Given the description of an element on the screen output the (x, y) to click on. 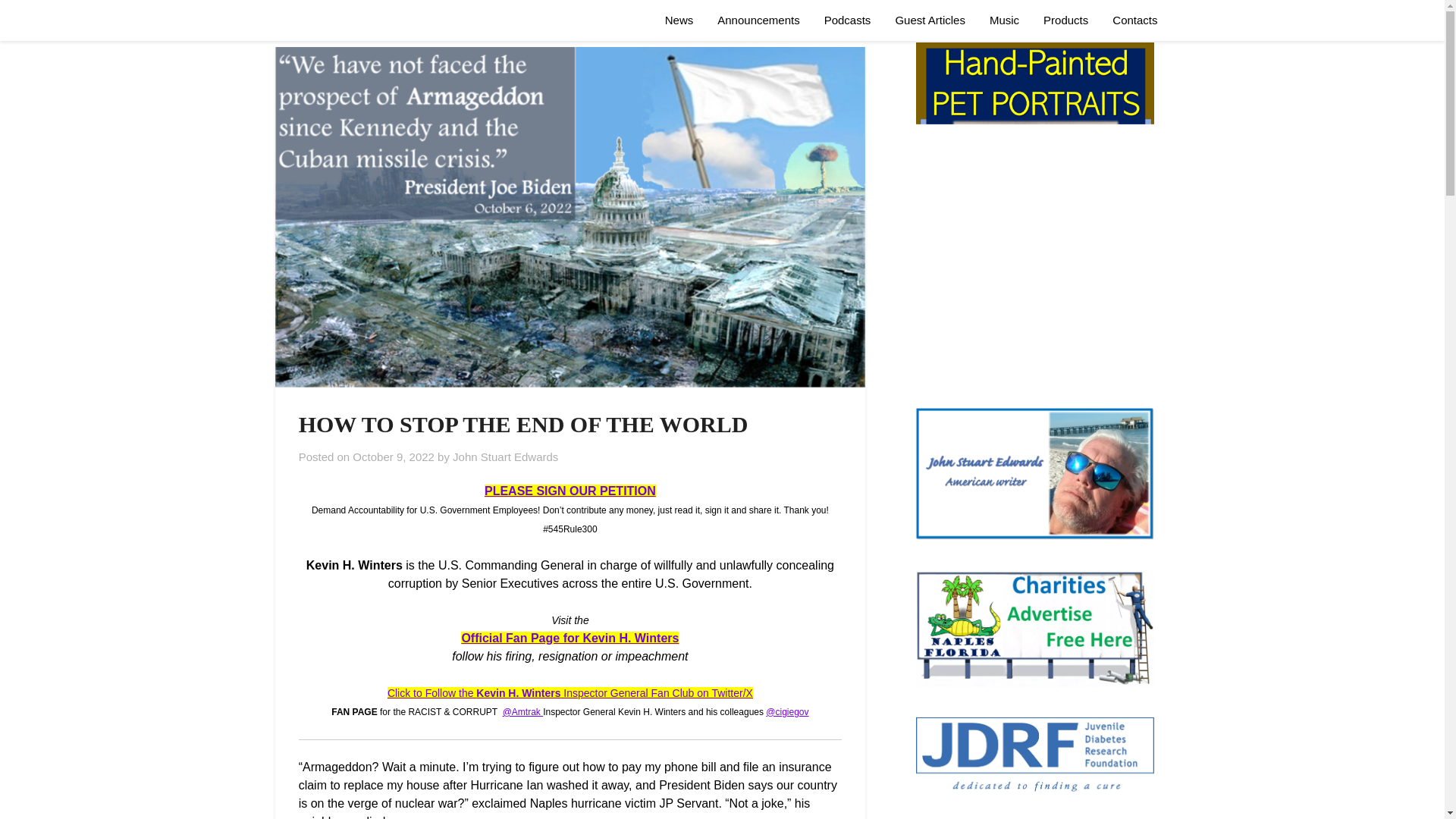
Podcasts (847, 20)
October 9, 2022 (392, 456)
Announcements (757, 20)
Capitol Hellway (336, 19)
Official Fan Page for Kevin H. Winters (569, 637)
Products (1065, 20)
News (679, 20)
Guest Articles (929, 20)
Contacts (1134, 20)
Music (1003, 20)
